Given the description of an element on the screen output the (x, y) to click on. 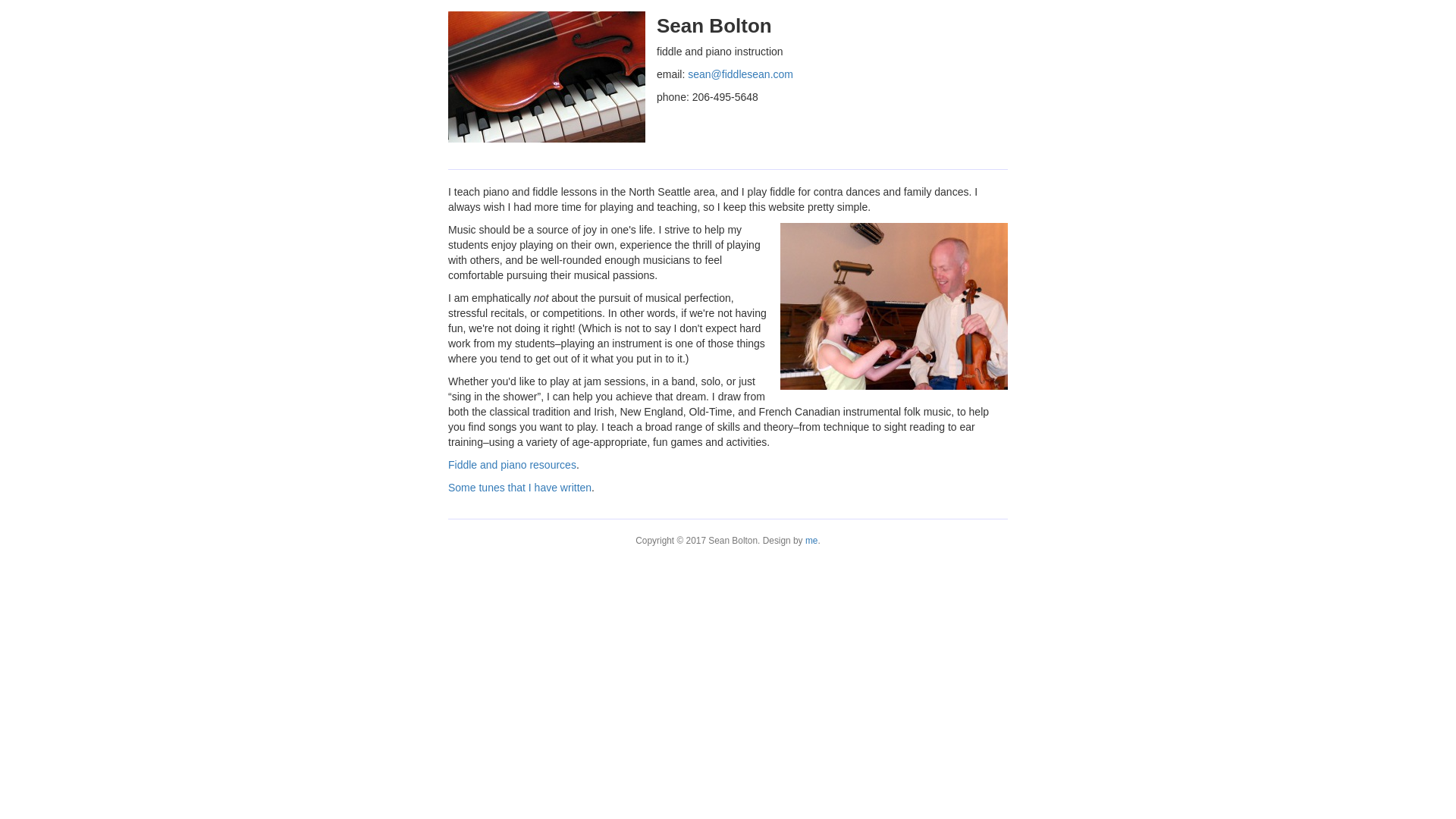
Some tunes that I have written (519, 487)
Fiddle and piano resources (512, 464)
me (811, 540)
